Given the description of an element on the screen output the (x, y) to click on. 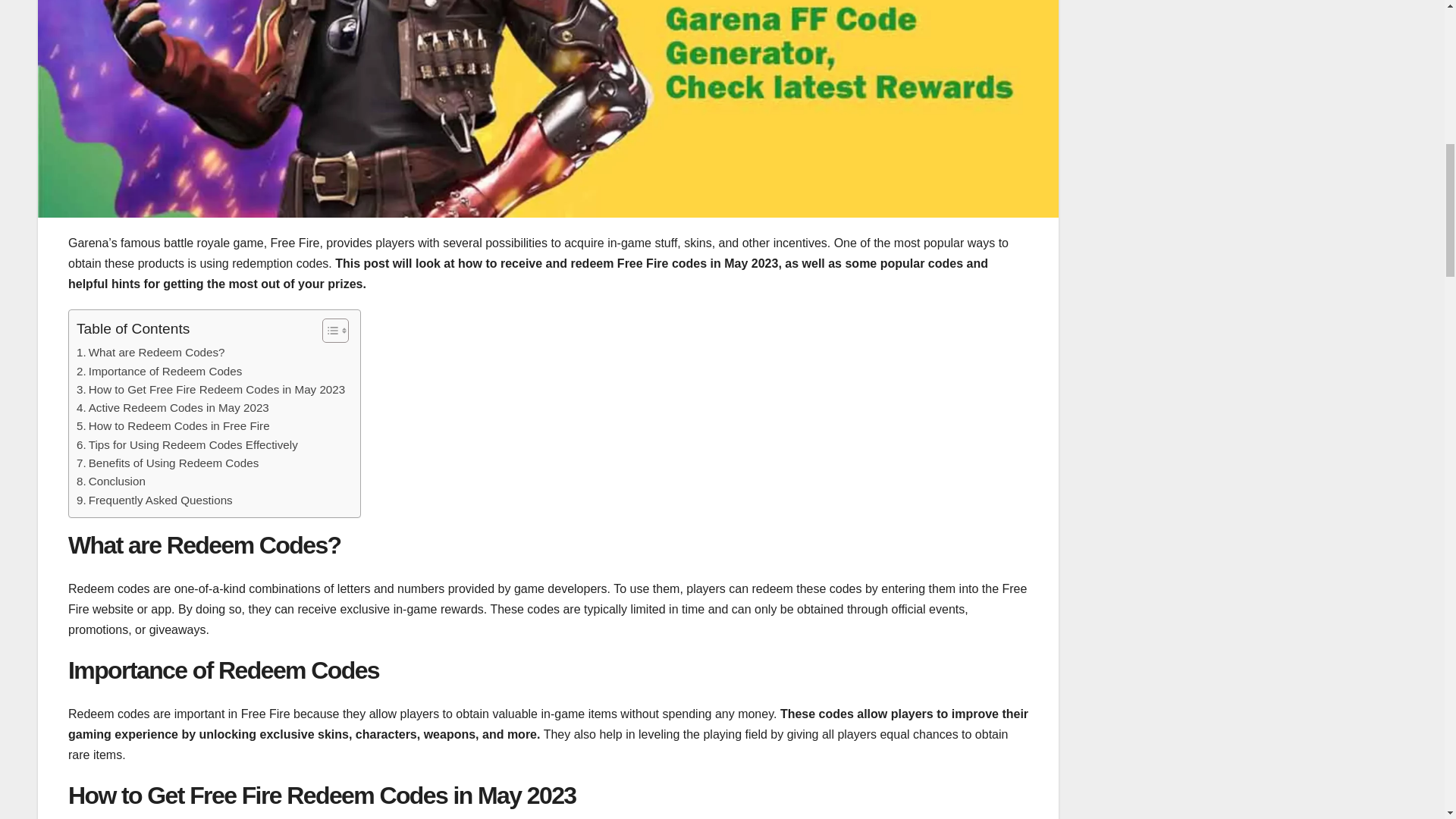
Importance of Redeem Codes (159, 371)
Benefits of Using Redeem Codes (168, 463)
Conclusion (111, 481)
How to Get Free Fire Redeem Codes in May 2023 (211, 389)
Active Redeem Codes in May 2023 (173, 407)
Benefits of Using Redeem Codes (168, 463)
Tips for Using Redeem Codes Effectively (187, 444)
Tips for Using Redeem Codes Effectively (187, 444)
How to Redeem Codes in Free Fire (173, 425)
Conclusion (111, 481)
